Given the description of an element on the screen output the (x, y) to click on. 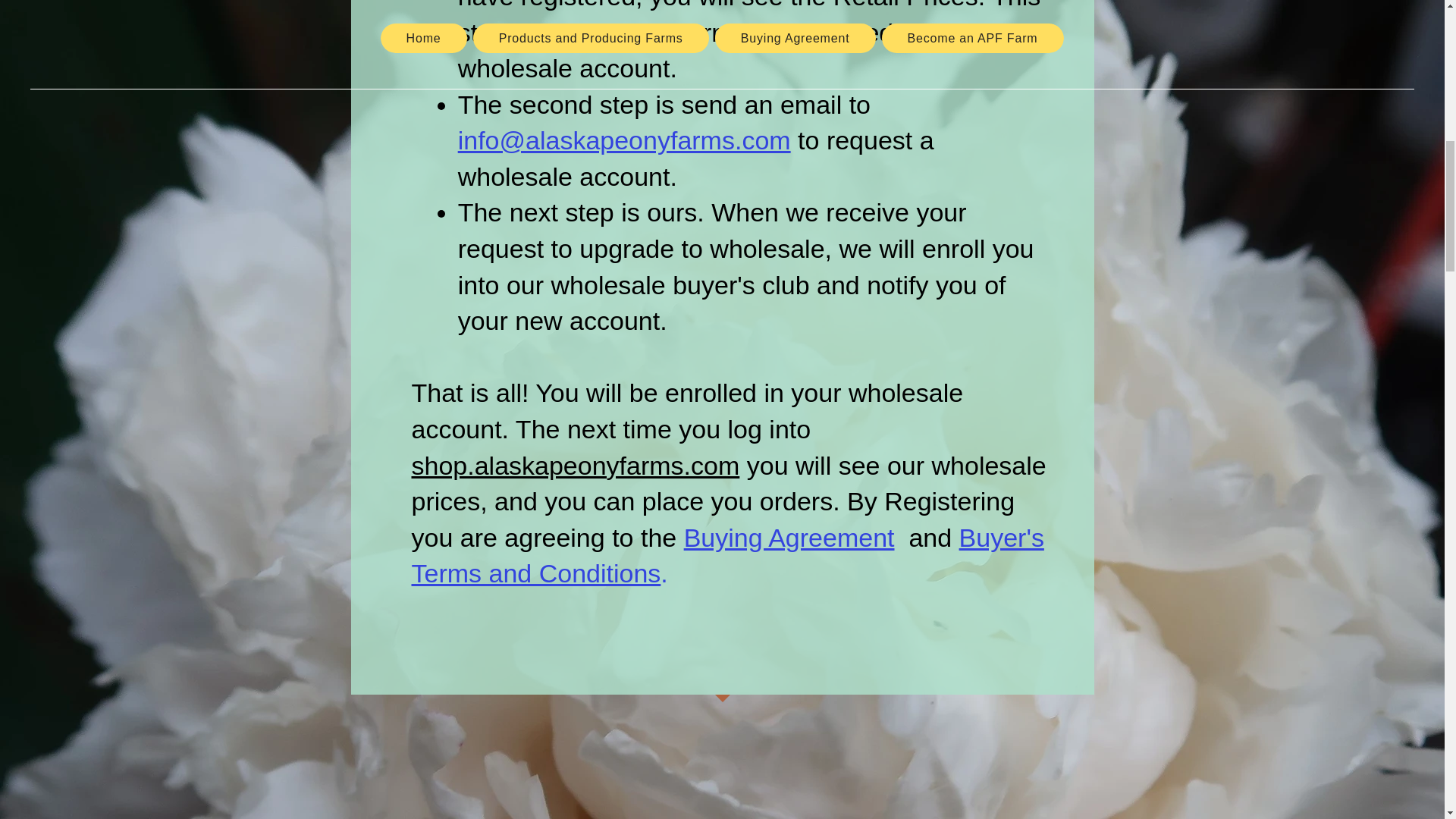
Buyer's Terms and Conditions (726, 555)
shop.alaskapeonyfarms.com (574, 465)
Buying Agreement (789, 537)
